Given the description of an element on the screen output the (x, y) to click on. 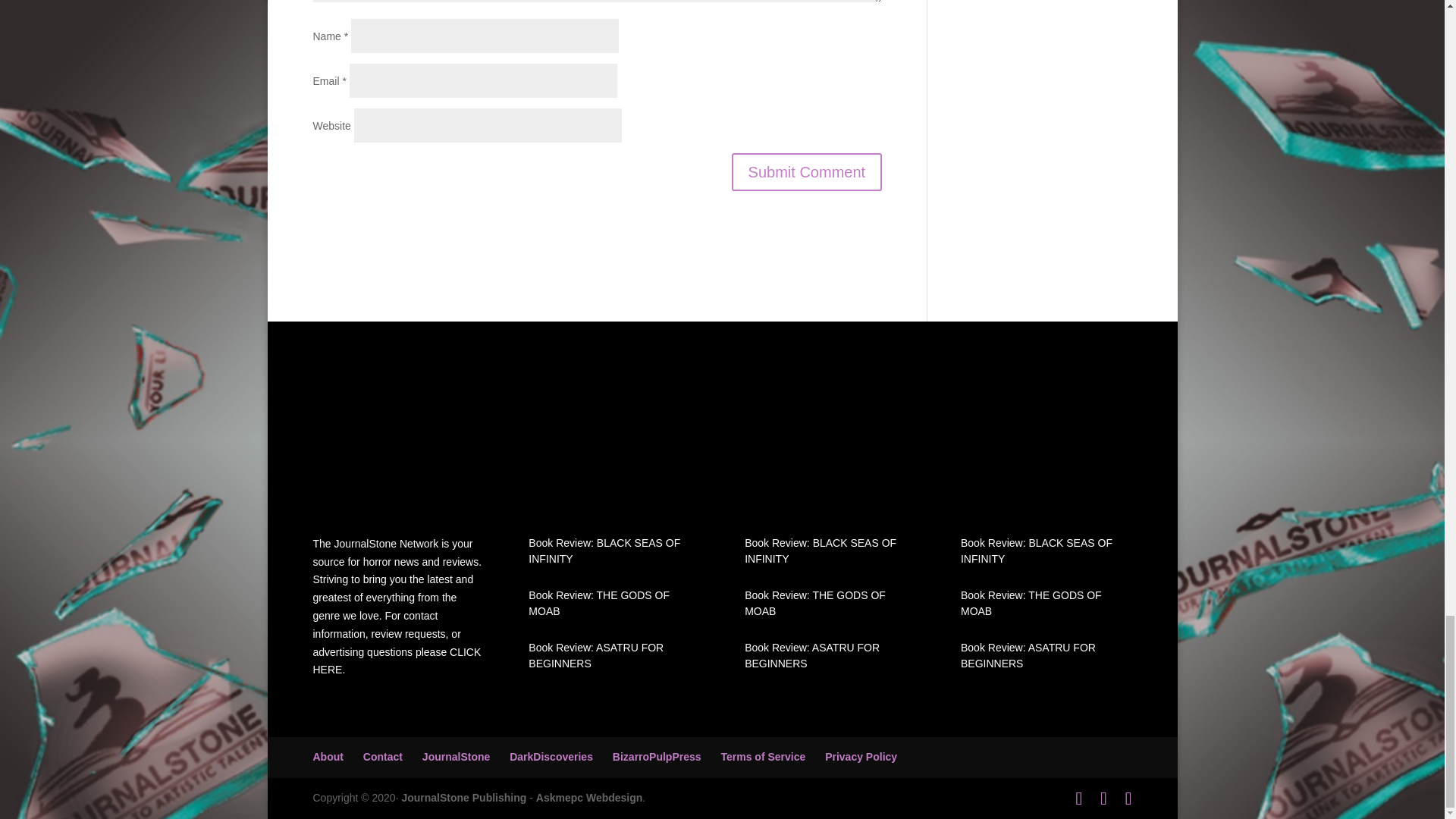
Submit Comment (807, 171)
Book Review: ASATRU FOR BEGINNERS (811, 655)
Book Review: BLACK SEAS OF INFINITY (603, 551)
Book Review: BLACK SEAS OF INFINITY (820, 551)
Book Review: THE GODS OF MOAB (598, 602)
Book Review: BLACK SEAS OF INFINITY (1036, 551)
CLICK HERE (396, 661)
Book Review: THE GODS OF MOAB (814, 602)
Book Review: THE GODS OF MOAB (1031, 602)
Book Review: ASATRU FOR BEGINNERS (1028, 655)
Submit Comment (807, 171)
Book Review: ASATRU FOR BEGINNERS (595, 655)
